Given the description of an element on the screen output the (x, y) to click on. 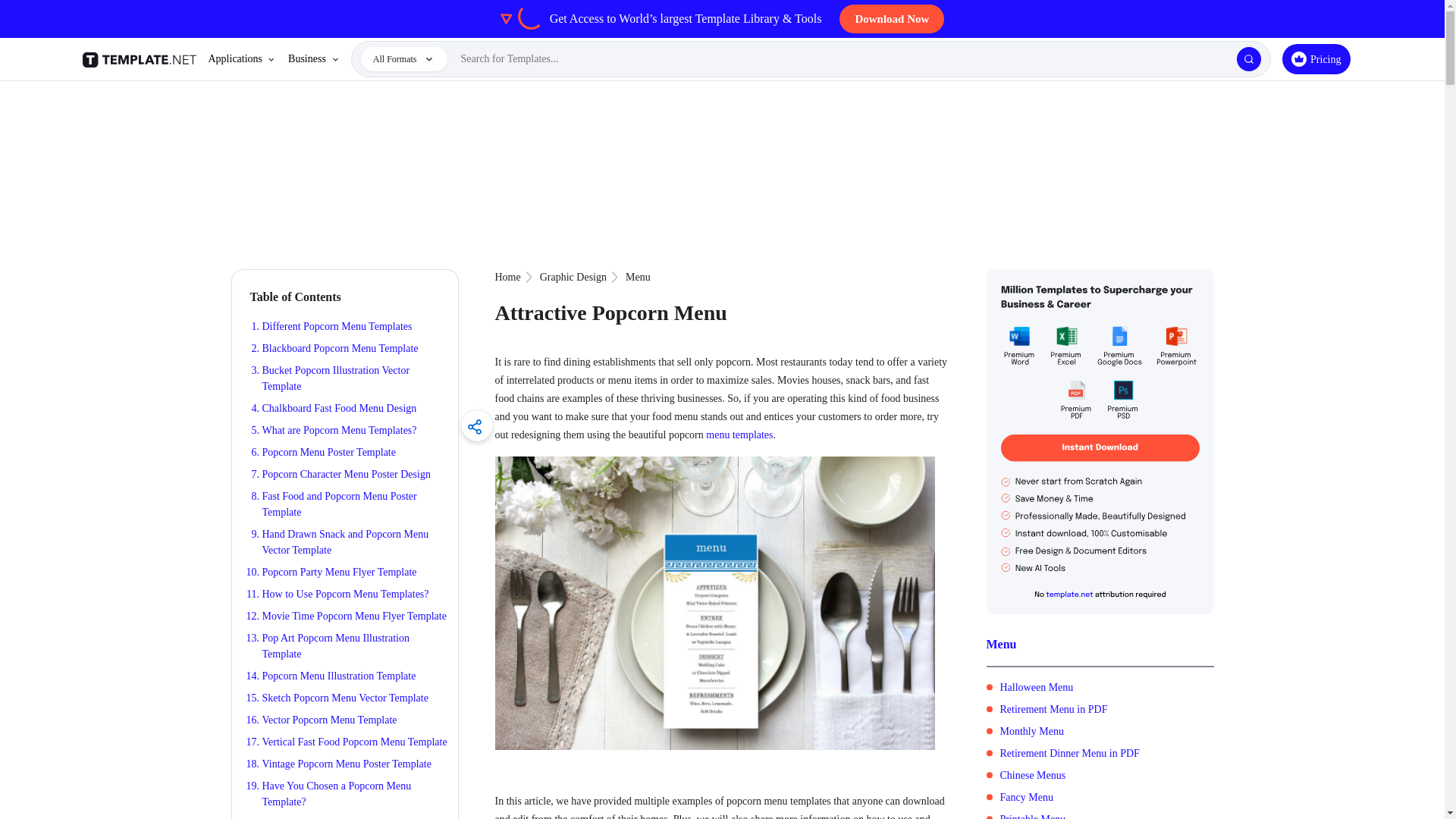
Template.net (141, 59)
Download Now (891, 18)
